Given the description of an element on the screen output the (x, y) to click on. 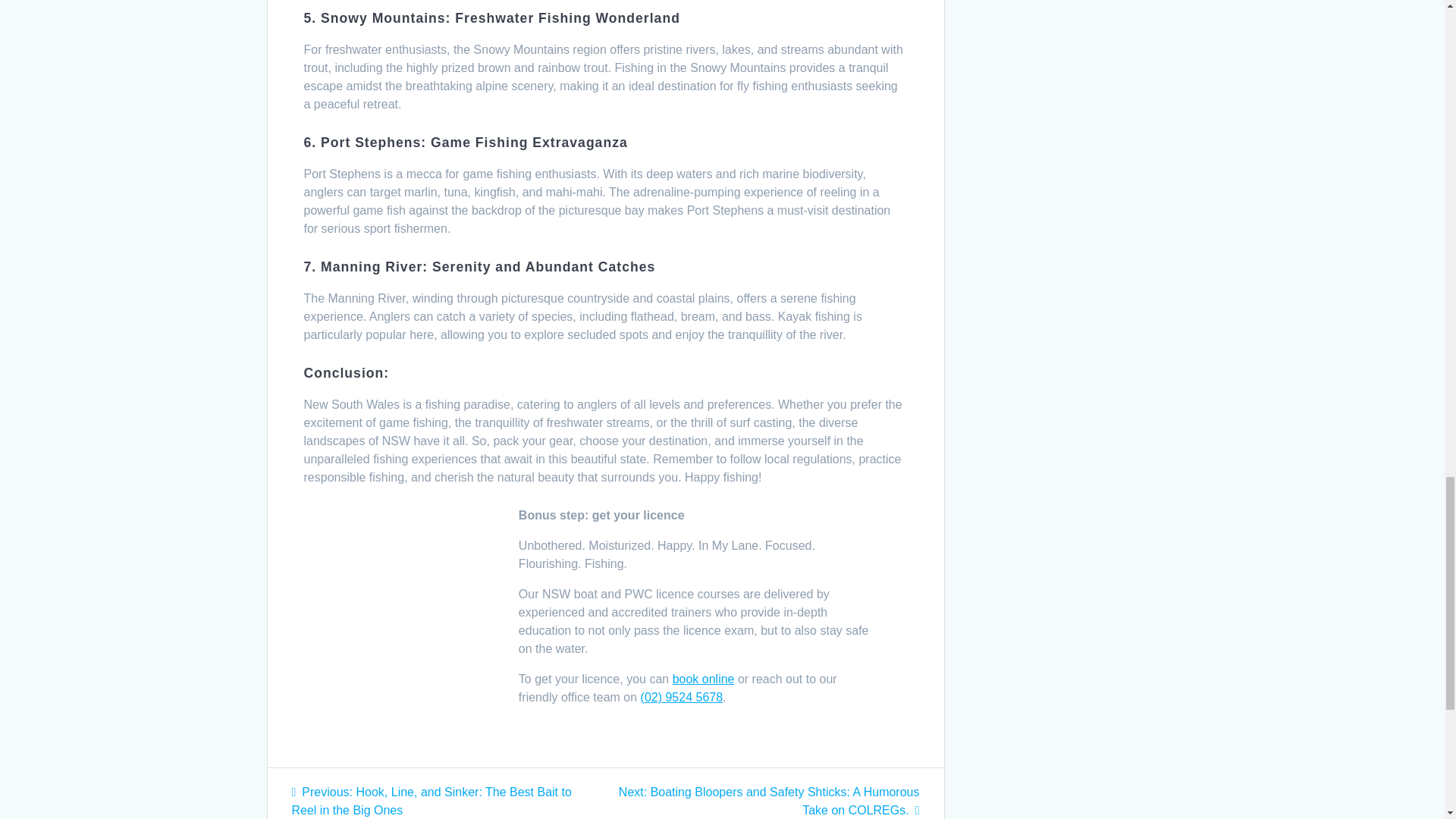
book online (703, 678)
